Given the description of an element on the screen output the (x, y) to click on. 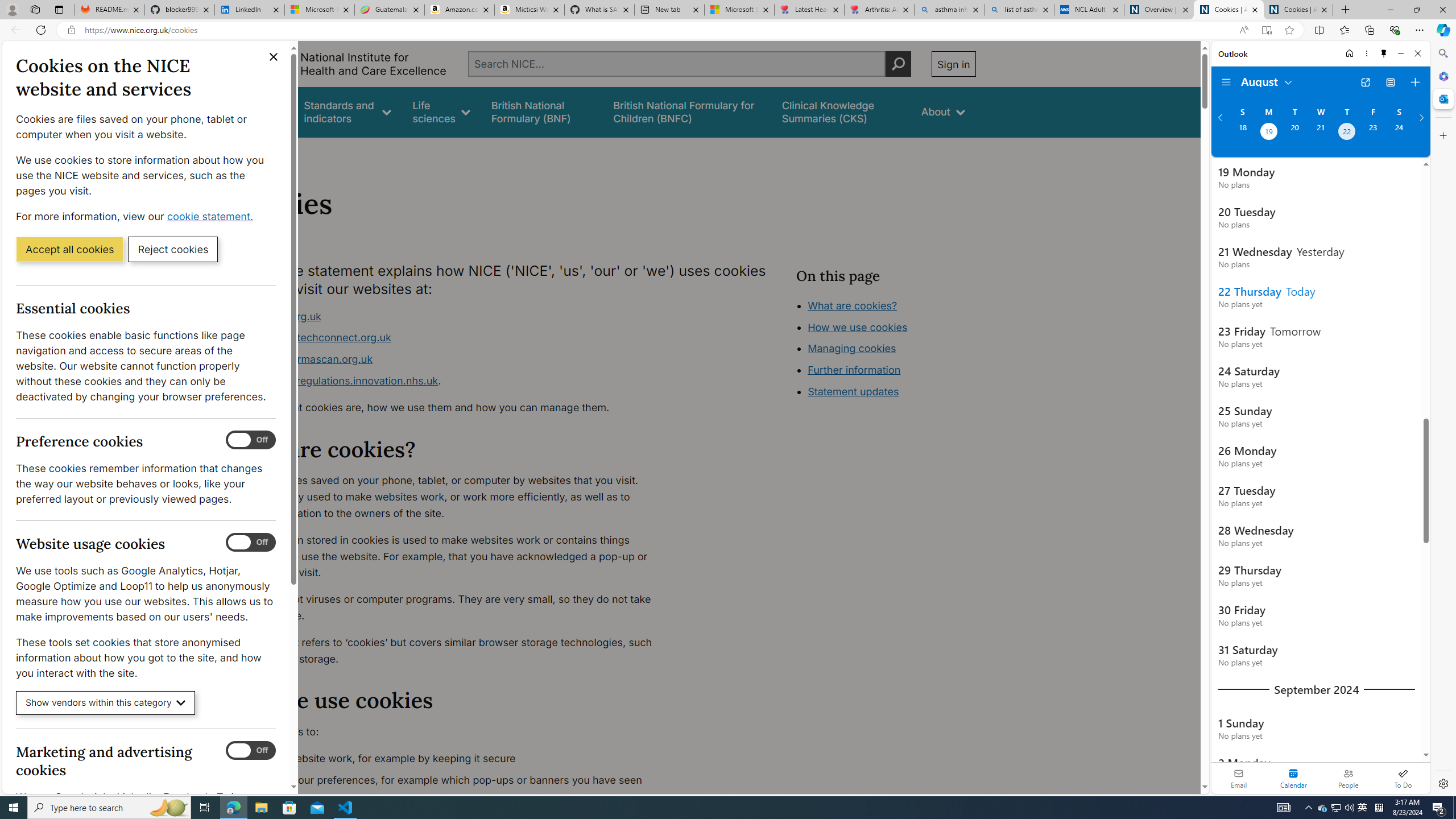
www.digitalregulations.innovation.nhs.uk. (452, 380)
Show vendors within this category (105, 703)
Unpin side pane (1383, 53)
Preference cookies (250, 439)
View Switcher. Current view is Agenda view (1390, 82)
cookie statement. (Opens in a new window) (211, 215)
Saturday, August 24, 2024.  (1399, 132)
